Given the description of an element on the screen output the (x, y) to click on. 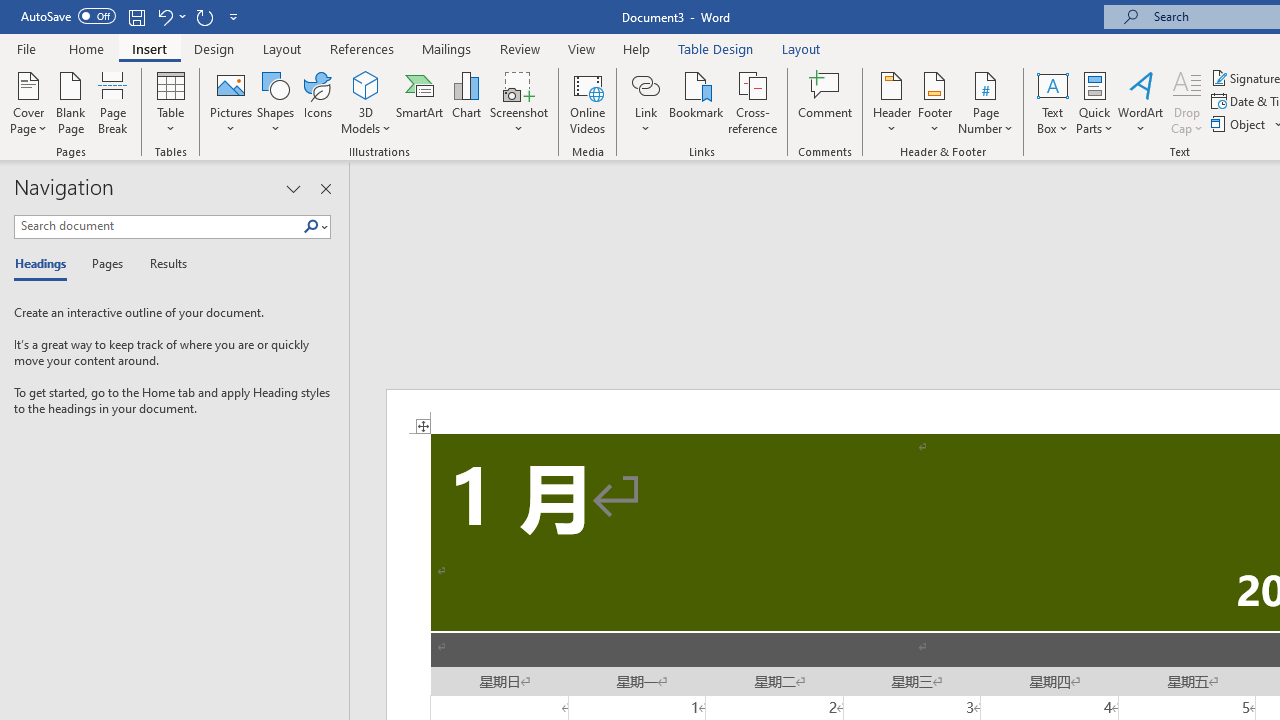
Headings (45, 264)
Search document (157, 226)
Blank Page (70, 102)
Chart... (466, 102)
Text Box (1052, 102)
Table Design (715, 48)
